Given the description of an element on the screen output the (x, y) to click on. 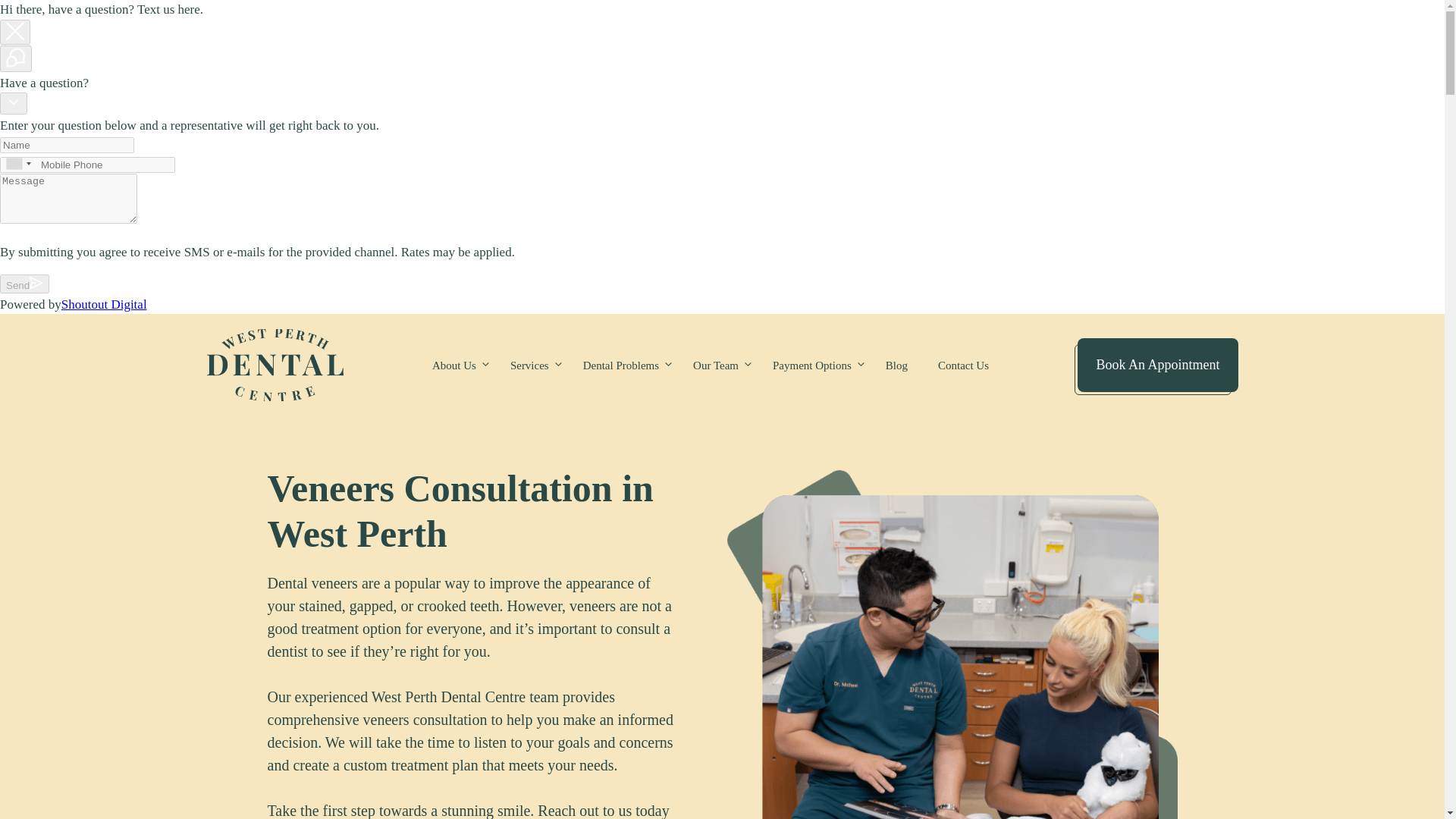
About Us (455, 365)
Services (531, 365)
